Given the description of an element on the screen output the (x, y) to click on. 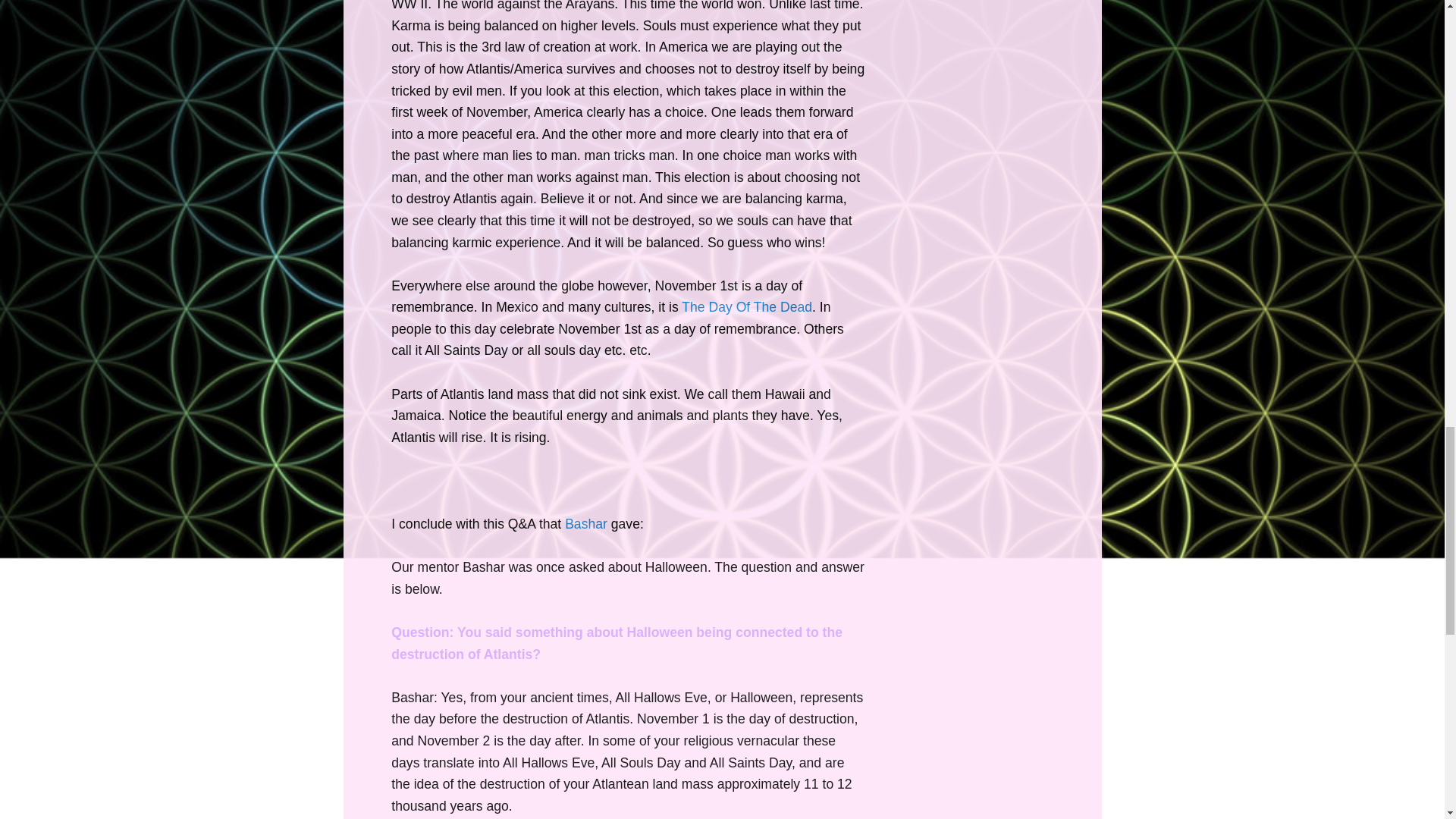
Bashar (585, 523)
Bashar (585, 523)
The day of the dead (746, 306)
The Day Of The Dead (746, 306)
